Given the description of an element on the screen output the (x, y) to click on. 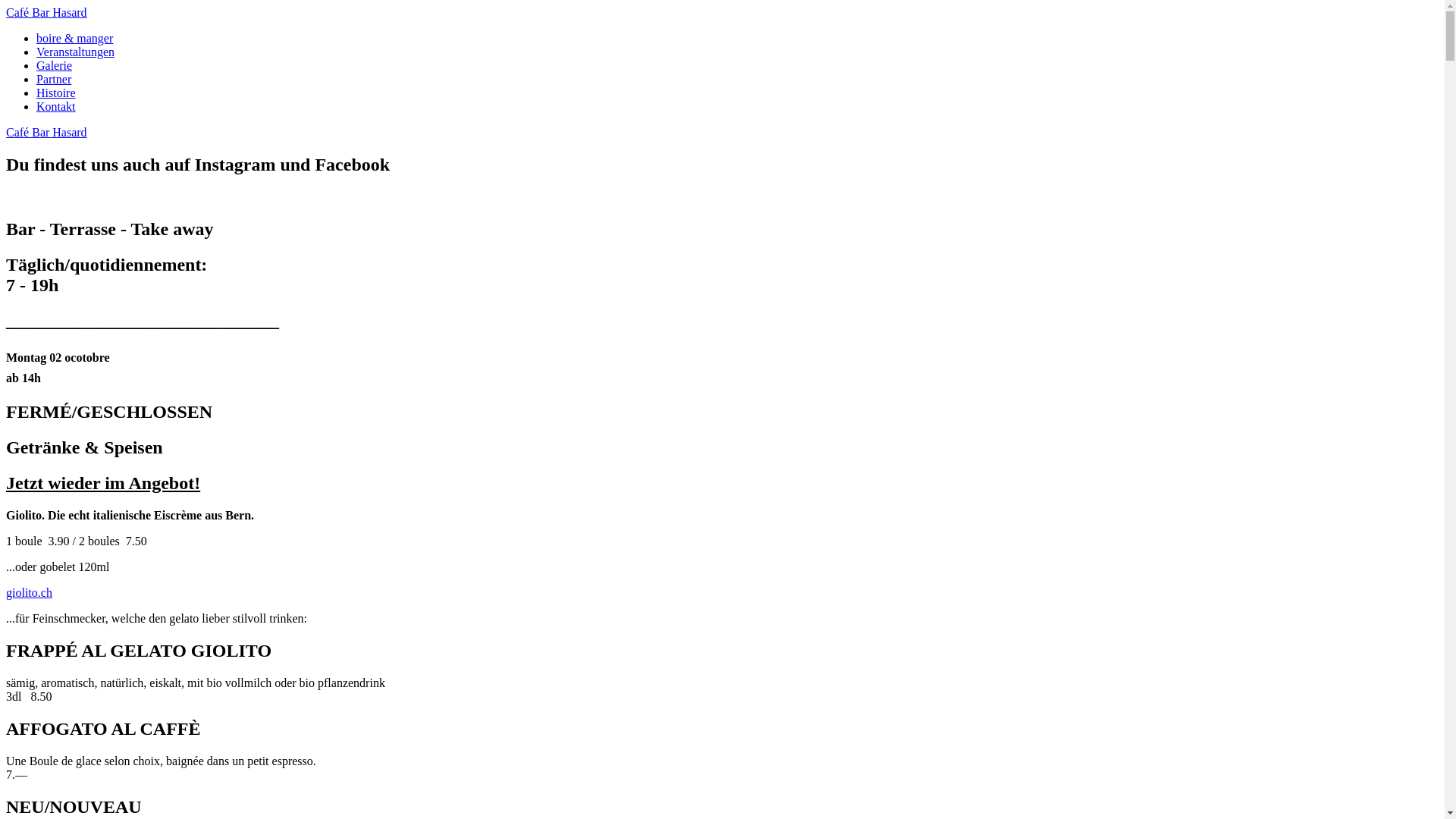
Kontakt Element type: text (55, 106)
Galerie Element type: text (54, 65)
Veranstaltungen Element type: text (75, 51)
Partner Element type: text (53, 78)
boire & manger Element type: text (74, 37)
Histoire Element type: text (55, 92)
giolito.ch Element type: text (29, 592)
